Given the description of an element on the screen output the (x, y) to click on. 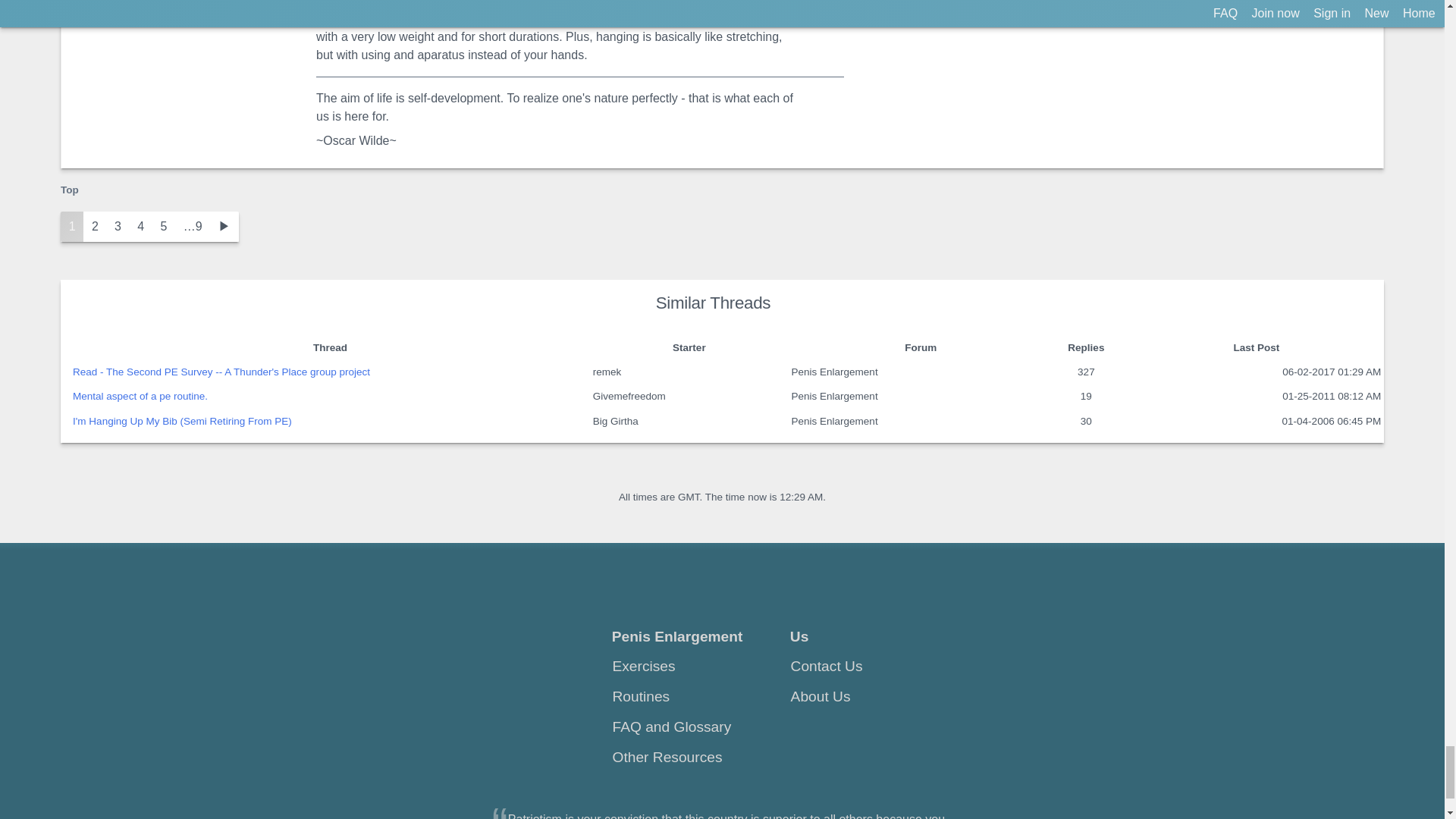
Top (69, 188)
